Given the description of an element on the screen output the (x, y) to click on. 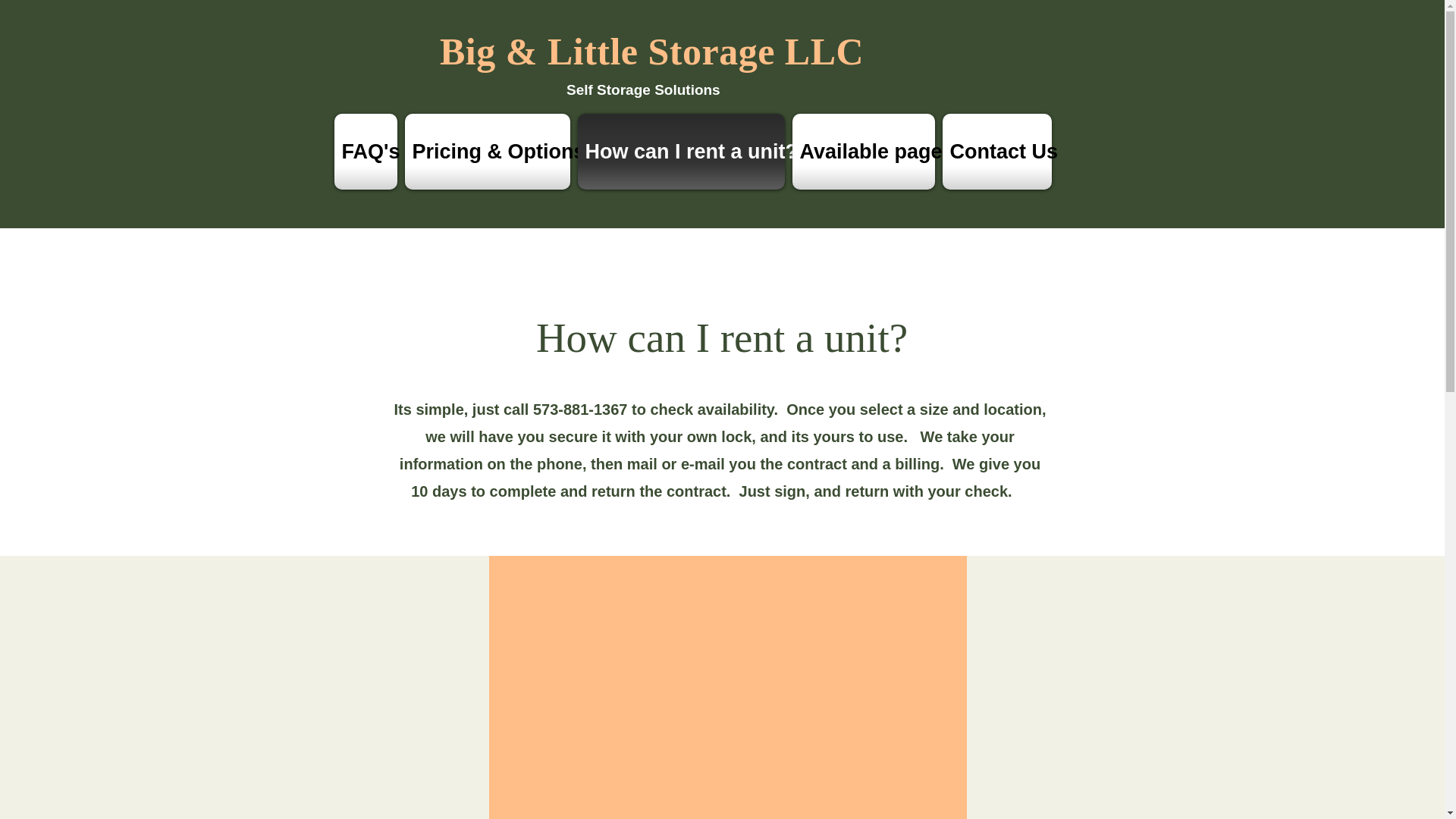
FAQ's (365, 151)
Contact Us (997, 151)
How can I rent a unit? (680, 151)
Available page (864, 151)
